Given the description of an element on the screen output the (x, y) to click on. 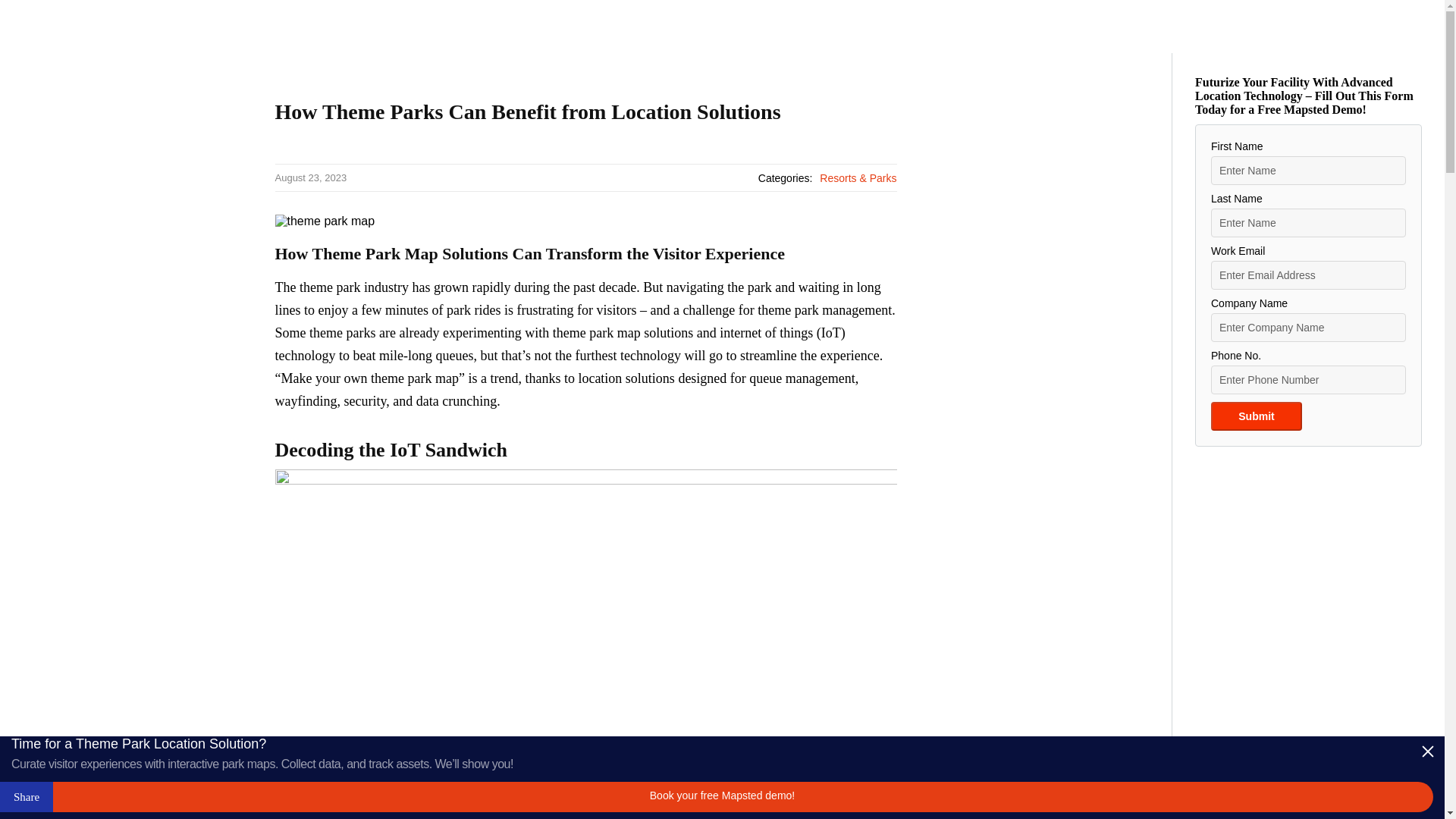
Share (26, 797)
Book your free Mapsted demo! (721, 797)
Submit (1256, 416)
